Given the description of an element on the screen output the (x, y) to click on. 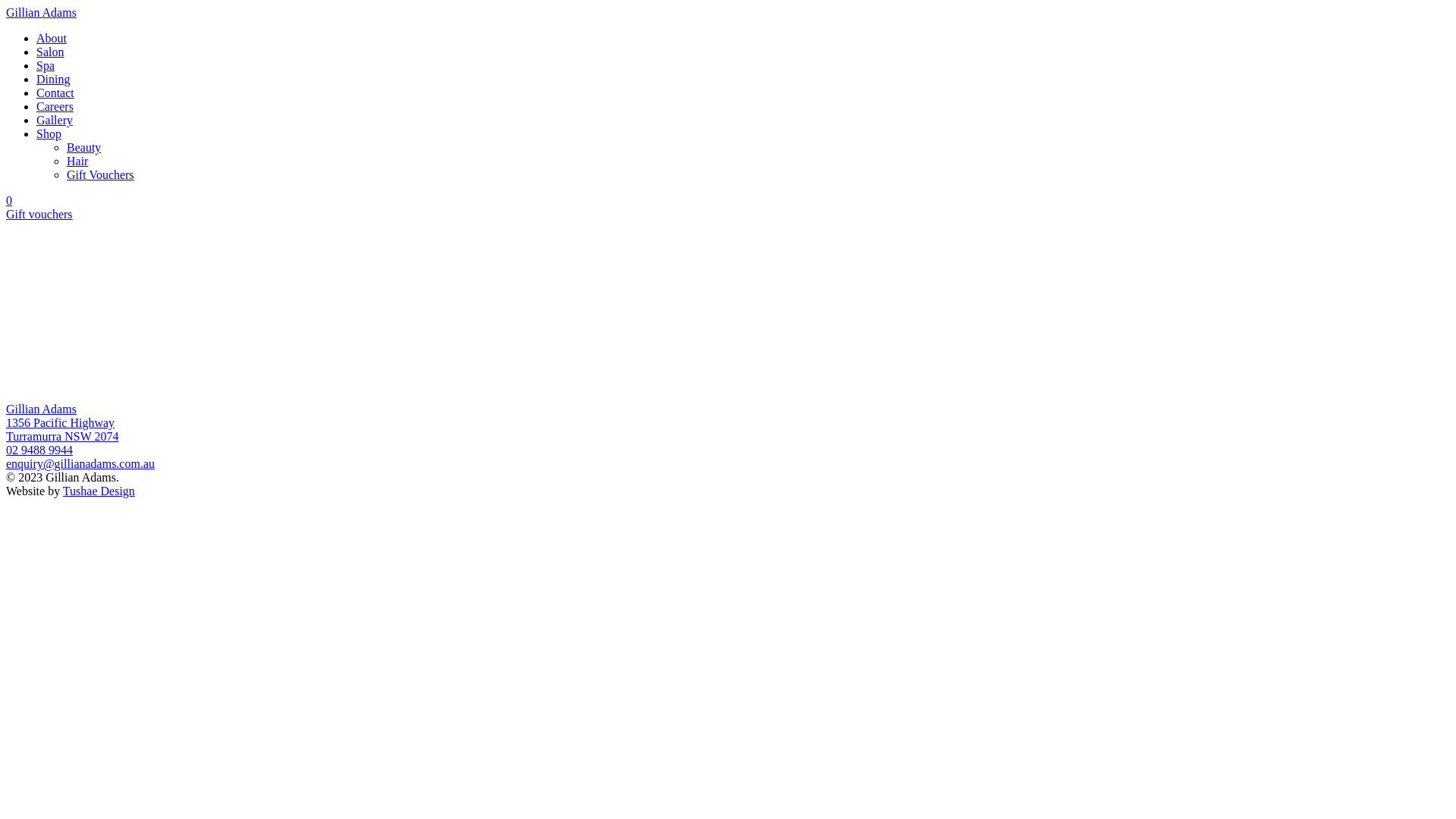
Hair Element type: text (76, 160)
Dining Element type: text (52, 78)
Contact Element type: text (55, 92)
Gift vouchers Element type: text (39, 213)
1356 Pacific Highway
Turramurra NSW 2074 Element type: text (62, 429)
Shop Element type: text (48, 133)
Salon Element type: text (49, 51)
Gillian Adams Element type: text (41, 12)
About Element type: text (51, 37)
Gillian Adams Element type: text (41, 408)
Gift Vouchers Element type: text (100, 174)
02 9488 9944 Element type: text (39, 449)
enquiry@gillianadams.com.au Element type: text (80, 463)
Spa Element type: text (45, 65)
Gallery Element type: text (54, 119)
Tushae Design Element type: text (98, 490)
Beauty Element type: text (83, 147)
Careers Element type: text (54, 106)
0 Element type: text (9, 200)
